Given the description of an element on the screen output the (x, y) to click on. 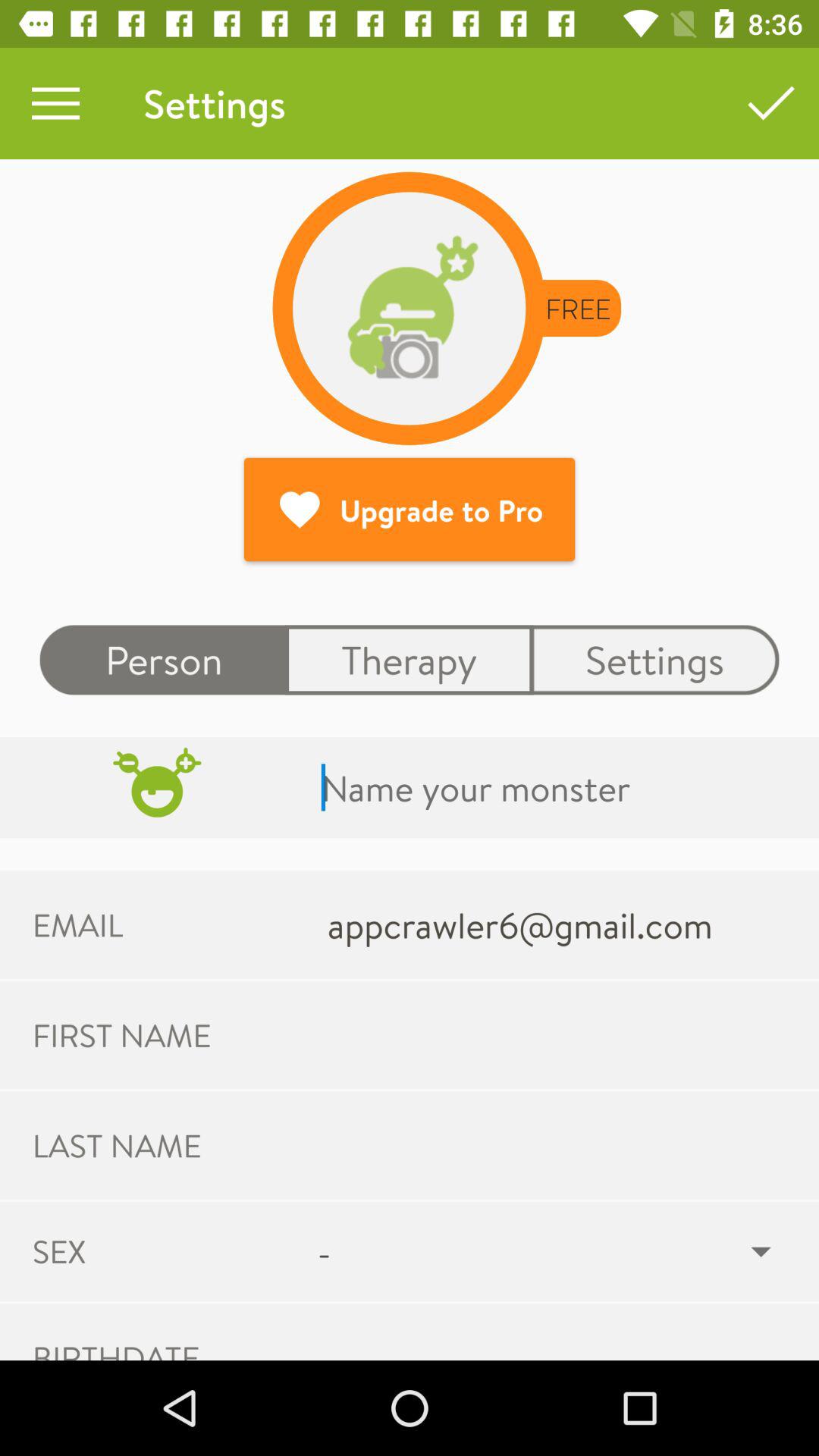
type text into prompt (554, 787)
